Given the description of an element on the screen output the (x, y) to click on. 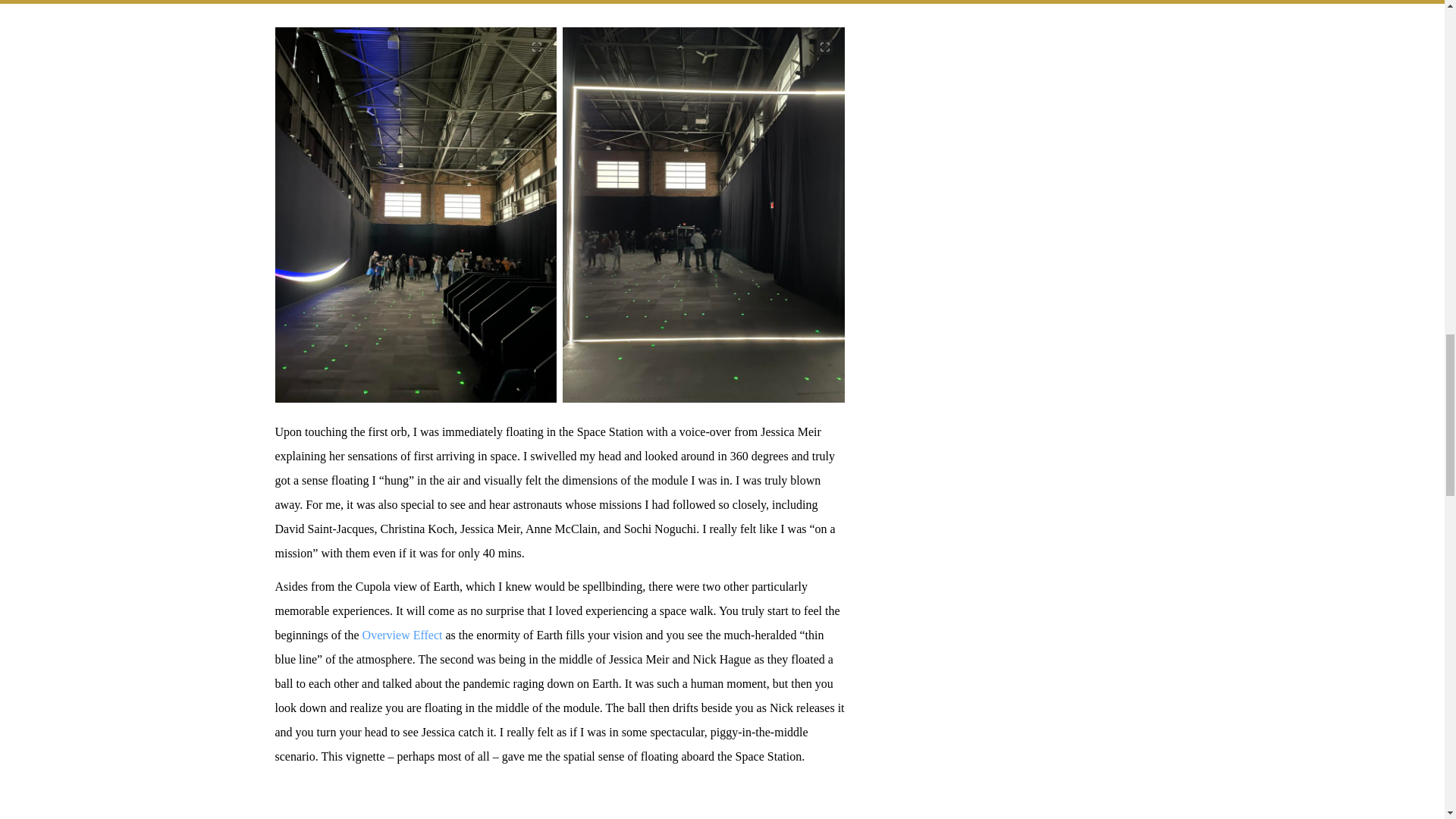
Overview Effect (402, 634)
Space Explorers: The Infinite - NOW OPEN in Vancouver (559, 807)
